Given the description of an element on the screen output the (x, y) to click on. 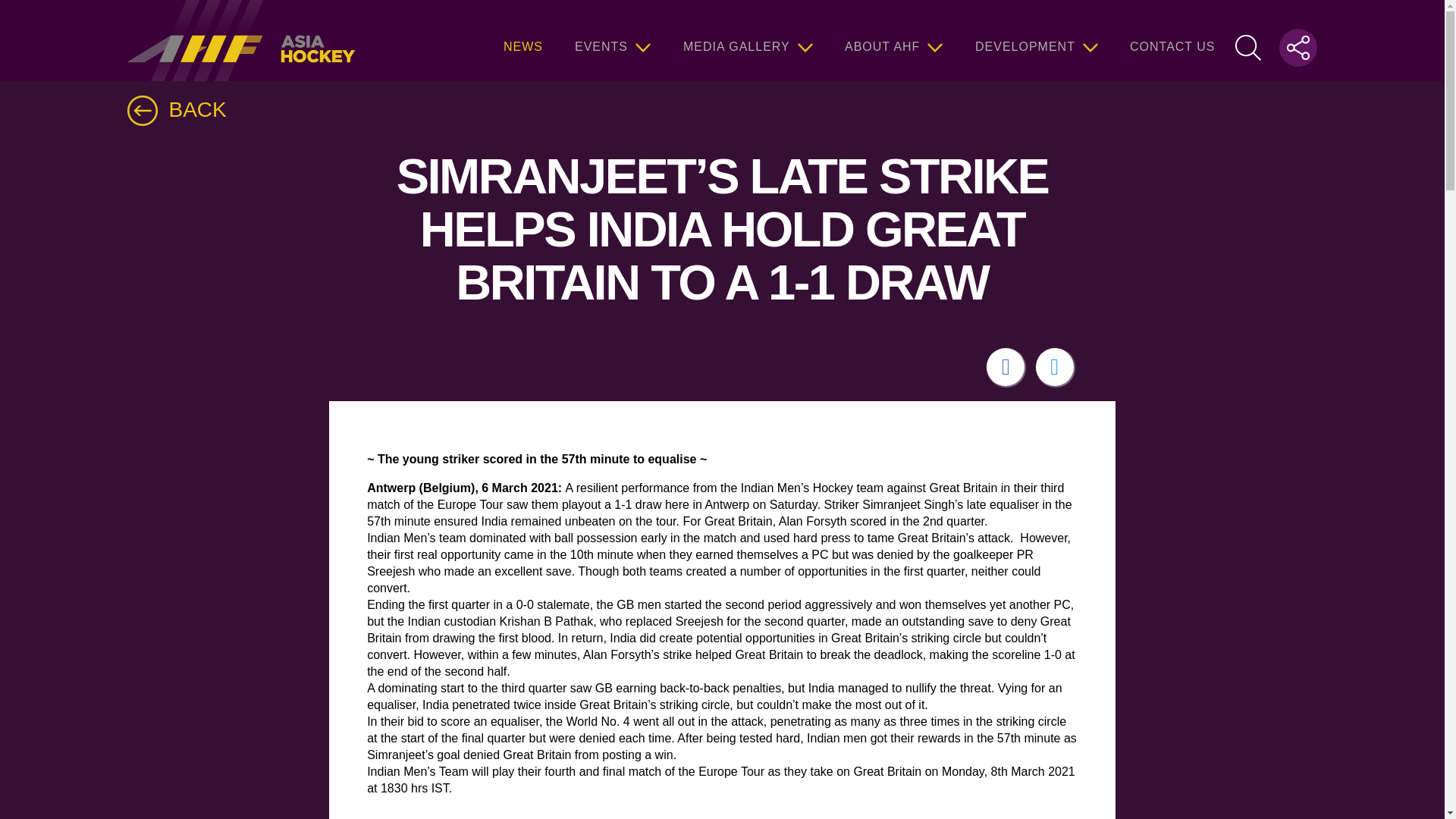
MEDIA GALLERY (747, 40)
DEVELOPMENT (1036, 40)
EVENTS (612, 40)
CONTACT US (1172, 40)
ABOUT AHF (892, 40)
